Given the description of an element on the screen output the (x, y) to click on. 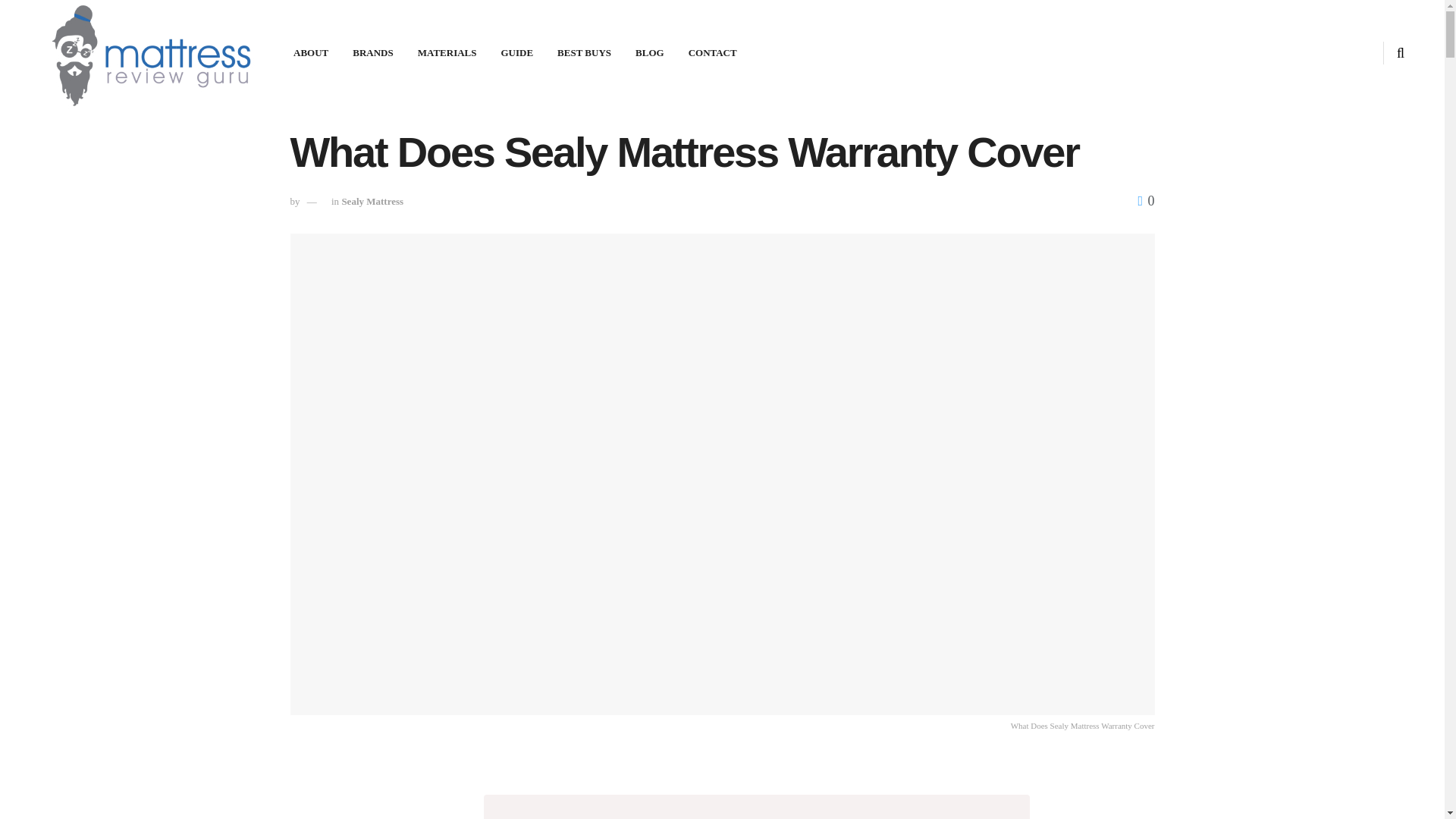
ABOUT (310, 53)
BRANDS (372, 53)
GUIDE (515, 53)
BLOG (650, 53)
BEST BUYS (583, 53)
0 (1145, 200)
MATERIALS (447, 53)
CONTACT (713, 53)
Sealy Mattress (371, 201)
